Given the description of an element on the screen output the (x, y) to click on. 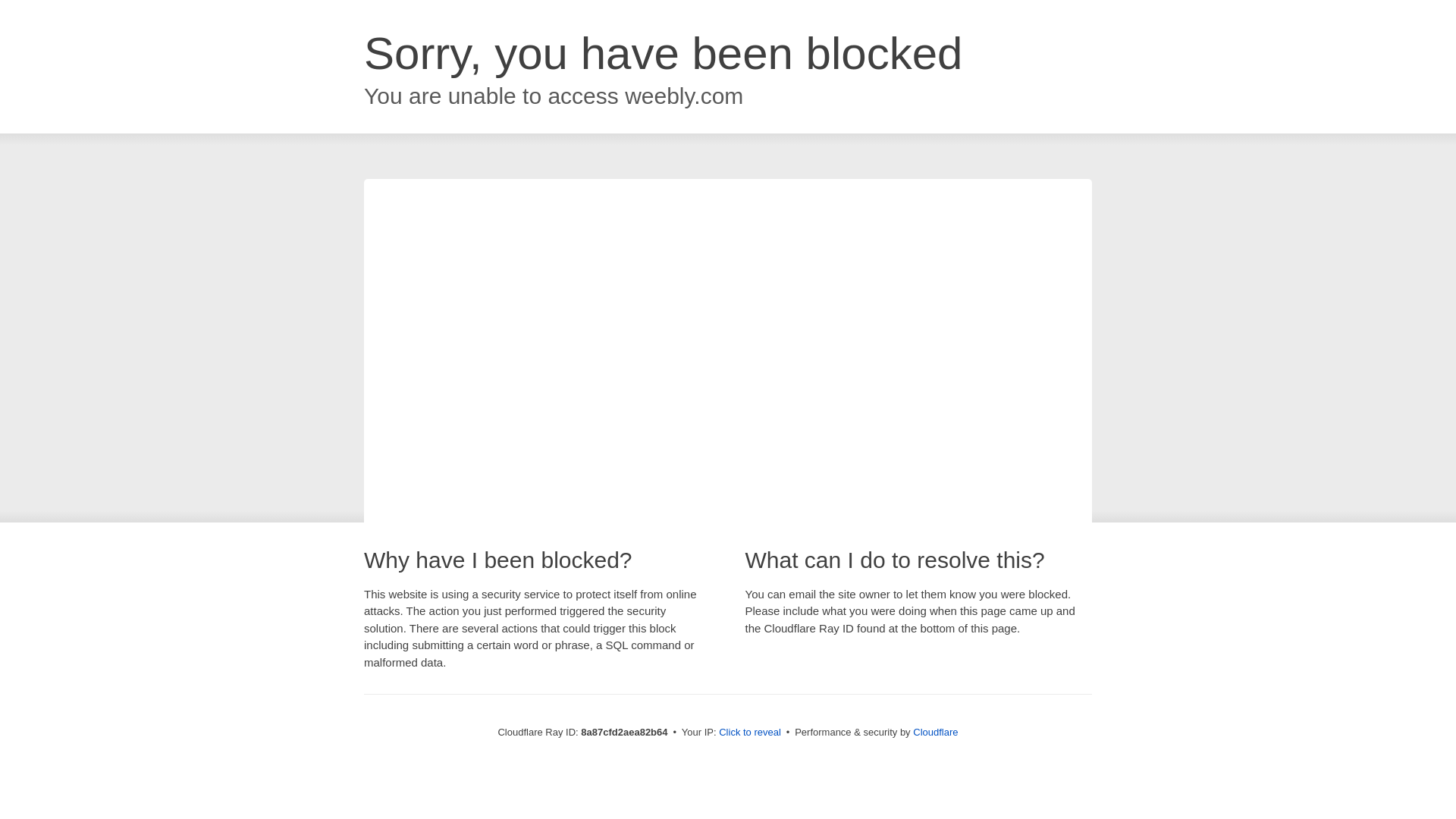
Cloudflare (935, 731)
Click to reveal (749, 732)
